Given the description of an element on the screen output the (x, y) to click on. 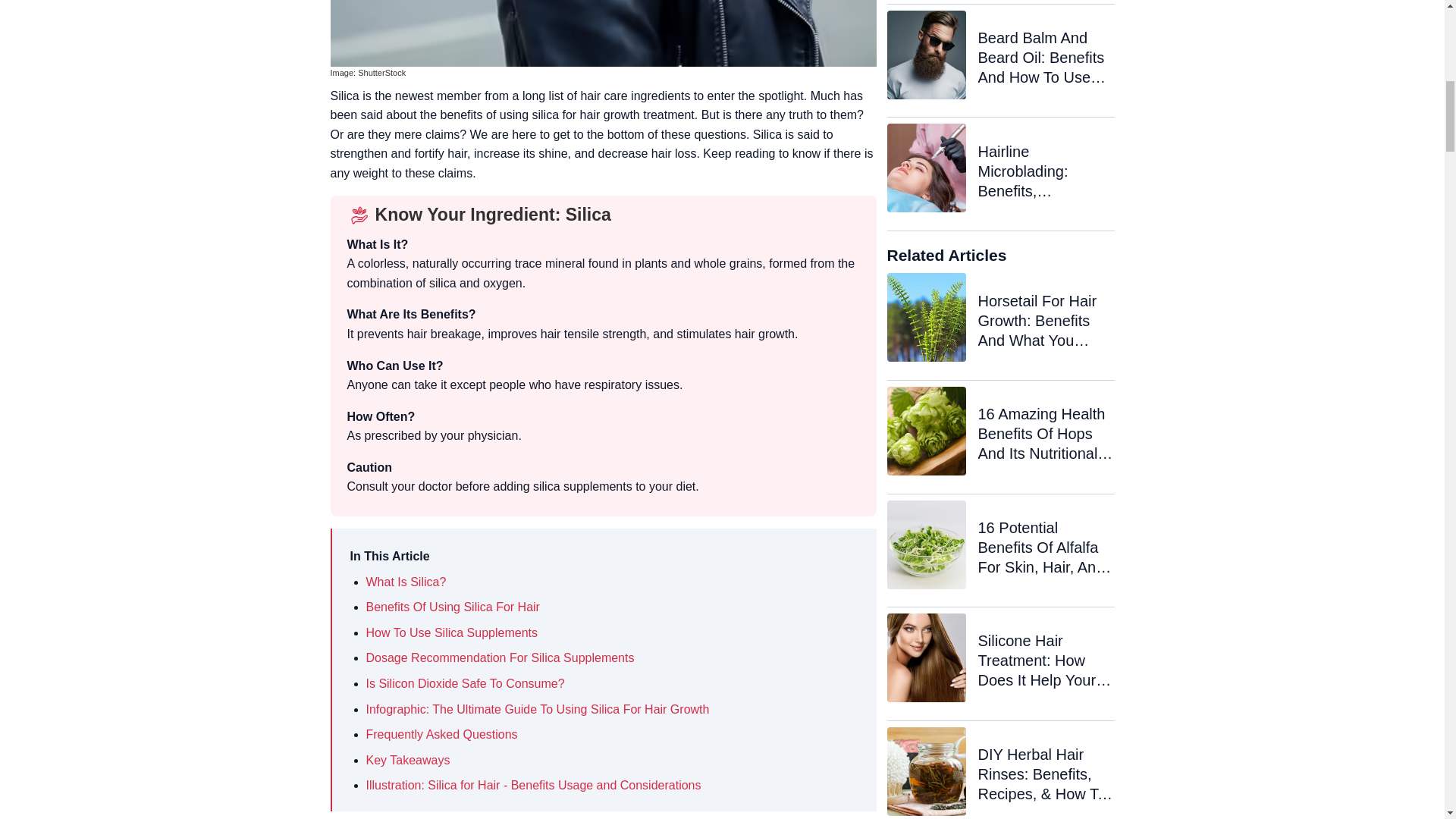
How To Use Silica Supplements (451, 632)
Is Silicon Dioxide Safe To Consume? (464, 683)
How Does Silica Help Promote Hair Growth? (603, 33)
Key Takeaways (407, 759)
What Is Silica? (405, 581)
Frequently Asked Questions (440, 734)
Silica for Hair - Benefits Usage and Considerations (532, 784)
Benefits Of Using Silica For Hair (451, 606)
Dosage Recommendation For Silica Supplements (499, 657)
